Given the description of an element on the screen output the (x, y) to click on. 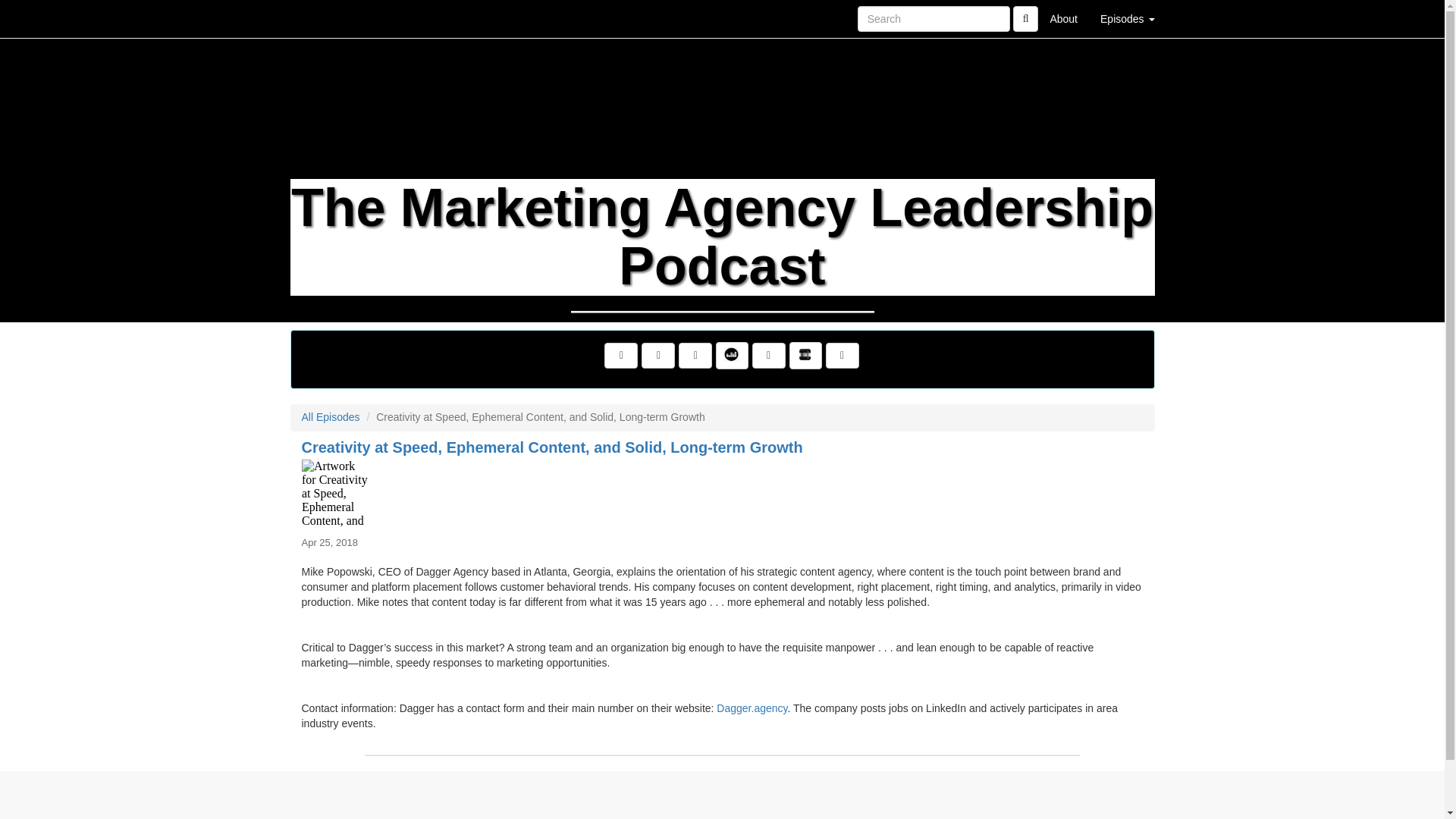
Episodes (1127, 18)
Home Page (320, 18)
About (1063, 18)
